Given the description of an element on the screen output the (x, y) to click on. 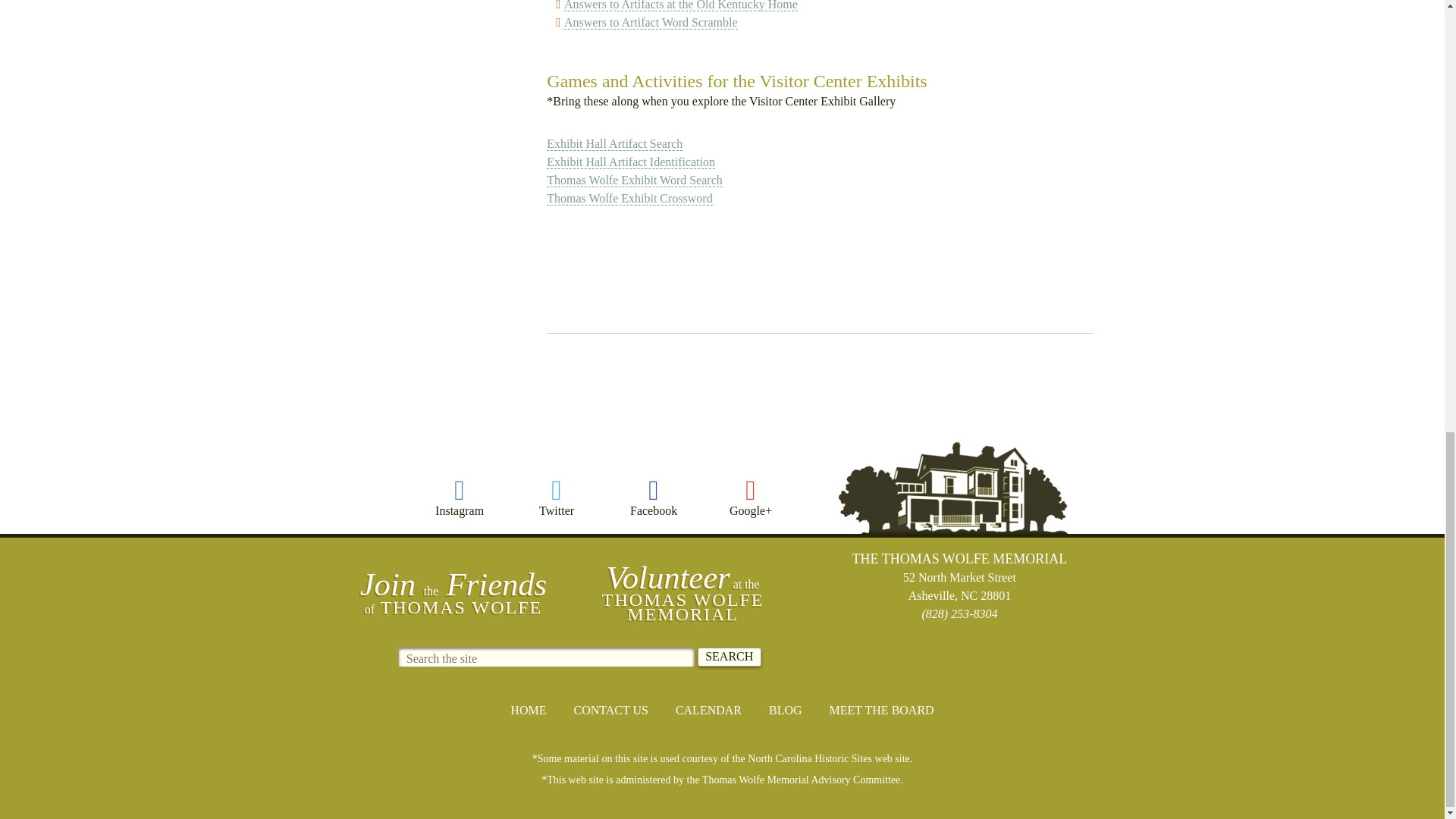
Thomas Wolfe Exhibit Word Search (634, 180)
Check out the Thomas Wolfe Memorial on Twitter (556, 497)
Find Out How to Volunteer with the Thomas Wolfe Memorial (682, 592)
Exhibit Hall Artifact Identification (630, 161)
Thomas Wolfe Exhibit Crossword (629, 198)
Find Out How to Become a Friend of the Thomas Wolfe Memorial (453, 592)
SEARCH (729, 657)
Check out the Thomas Wolfe Memorial on Instagram (459, 497)
Answers to Artifact Word Scramble (651, 22)
Answers to Artifacts at the Old Kentucky Home (680, 5)
Exhibit Hall Artifact Search (614, 143)
Check out the Thomas Wolfe Memorial on Facebook (653, 497)
